Given the description of an element on the screen output the (x, y) to click on. 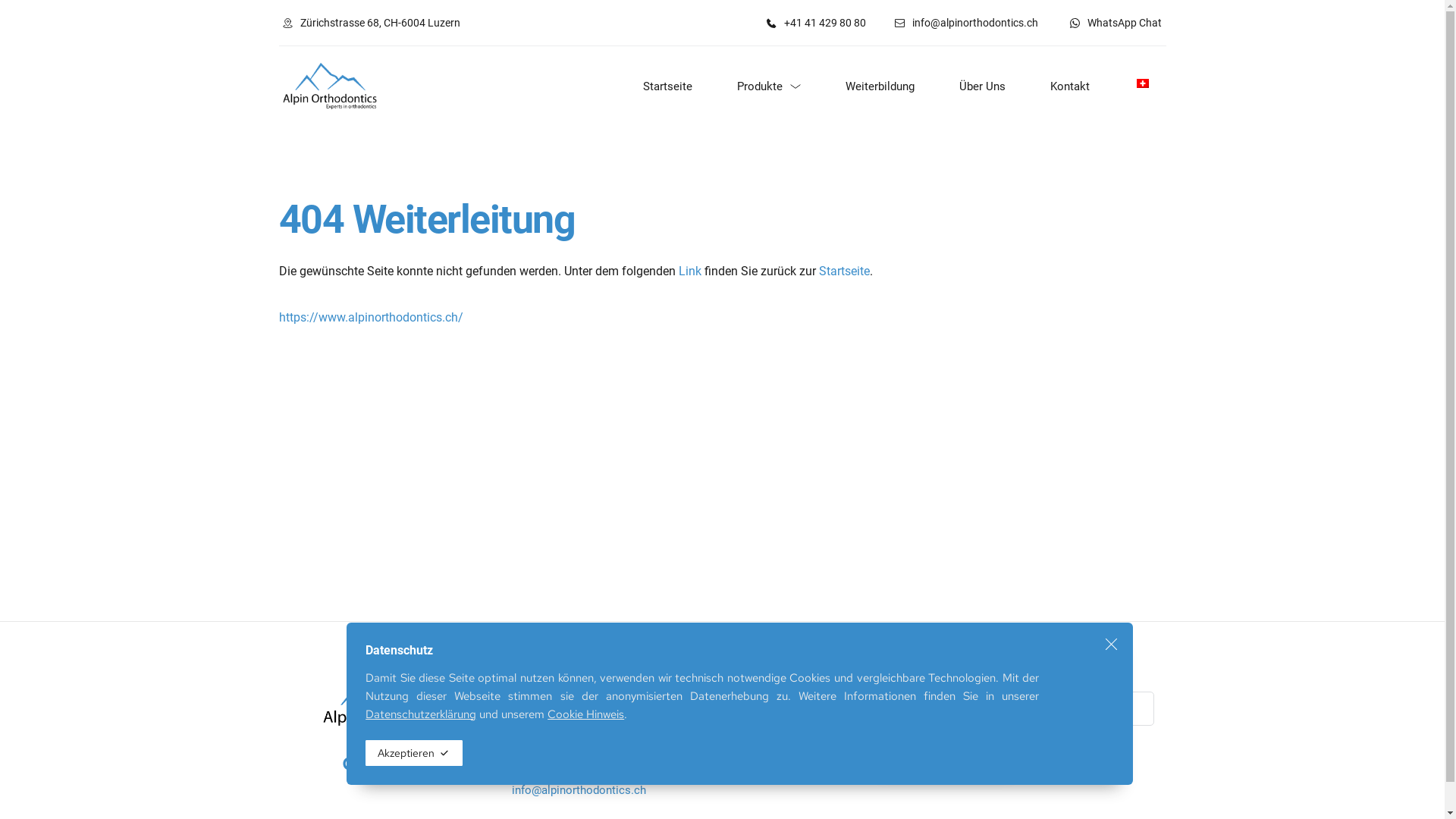
Akzeptieren Element type: text (413, 752)
Weiterbildung Element type: text (753, 737)
info@alpinorthodontics.ch Element type: text (578, 790)
Deutsch (Schweiz) Element type: hover (1142, 82)
https://www.alpinorthodontics.ch/ Element type: text (371, 317)
Kontakt Element type: text (1077, 86)
Anmelden Element type: text (937, 753)
Deutsch (Schweiz) Element type: hover (1142, 83)
Produkte Element type: text (741, 718)
Produkte Element type: text (776, 86)
Startseite Element type: text (675, 86)
Link Element type: text (688, 270)
Startseite Element type: text (743, 700)
Kontakt Element type: text (738, 773)
WhatsApp Chat Element type: text (1115, 22)
+41 41 429 80 80 Element type: text (816, 22)
Startseite Element type: text (844, 270)
Weiterbildung Element type: text (887, 86)
Cookie Hinweis Element type: text (585, 713)
info@alpinorthodontics.ch Element type: text (966, 22)
+41 41 429 80 80 Element type: text (554, 768)
